Given the description of an element on the screen output the (x, y) to click on. 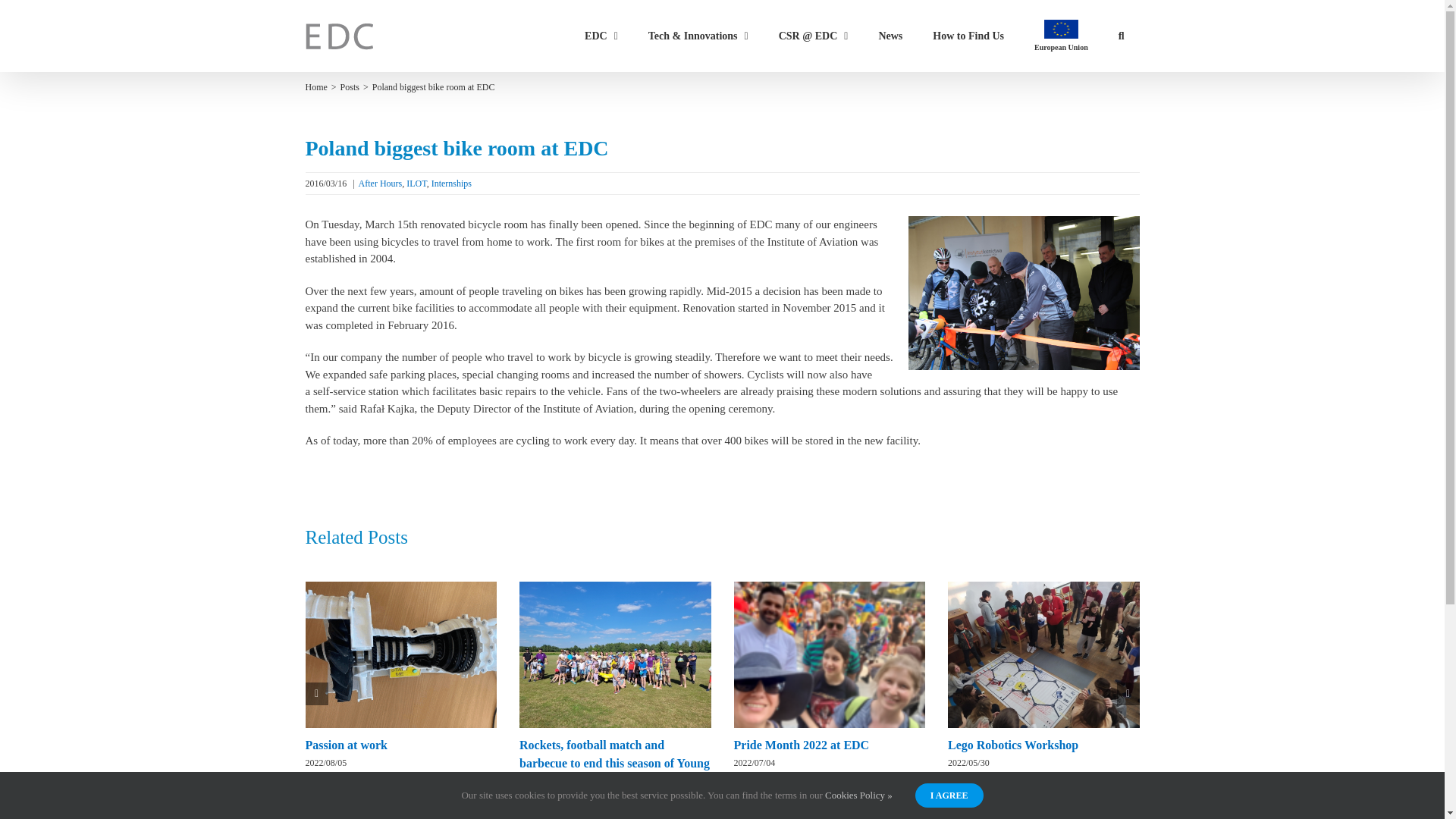
Passion at work (345, 744)
How to Find Us (968, 36)
Lego Robotics Workshop (1012, 744)
ue-flag (1060, 28)
Pride Month 2022 at EDC (801, 744)
European Union (1061, 36)
